Given the description of an element on the screen output the (x, y) to click on. 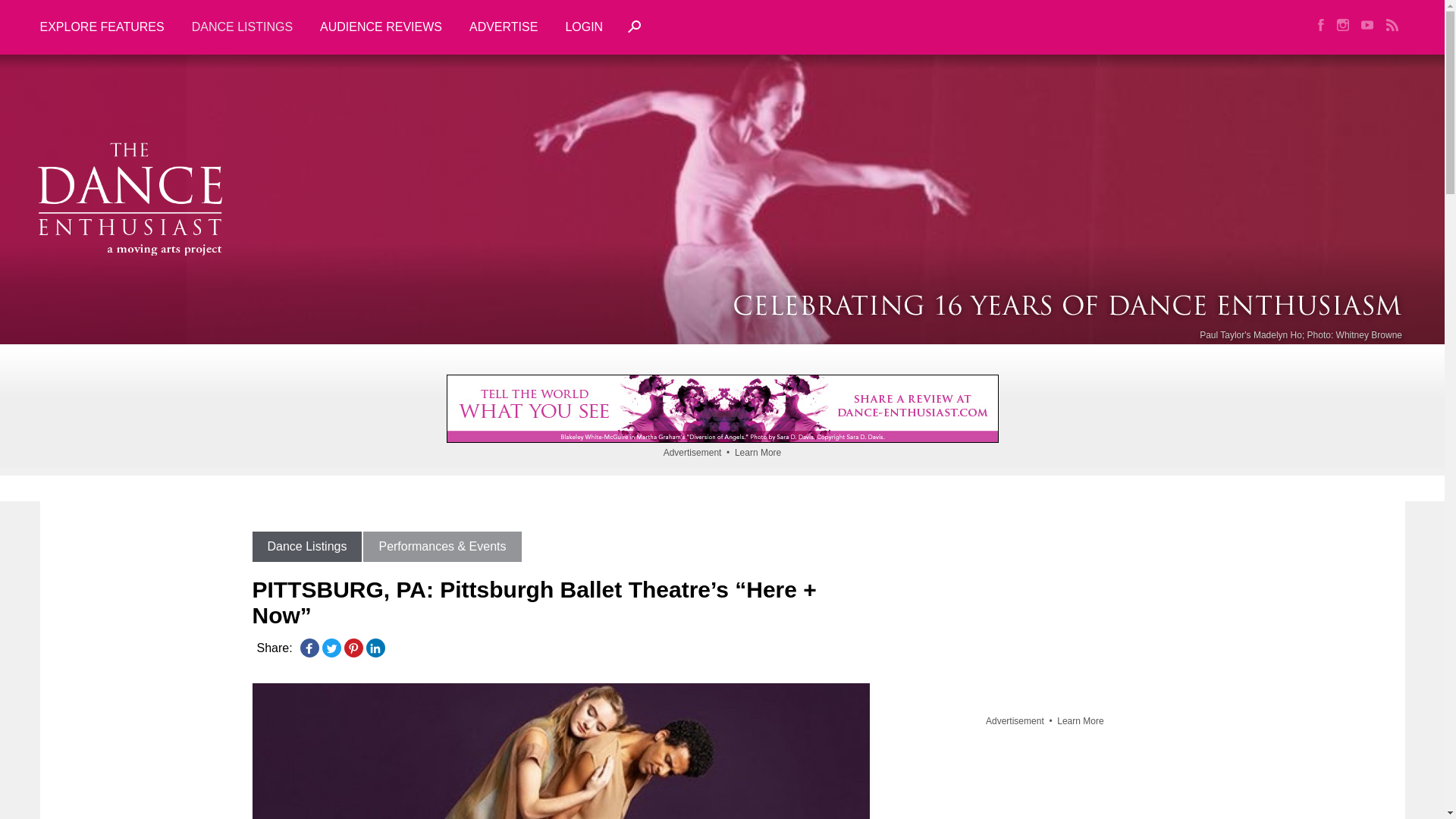
DANCE LISTINGS (241, 27)
AUDIENCE REVIEWS (380, 27)
Pinterest (353, 648)
EXPLORE FEATURES (108, 27)
LOGIN (583, 27)
Facebook (309, 648)
LinkedIn (375, 648)
ADVERTISE (503, 27)
Twitter (331, 648)
